Given the description of an element on the screen output the (x, y) to click on. 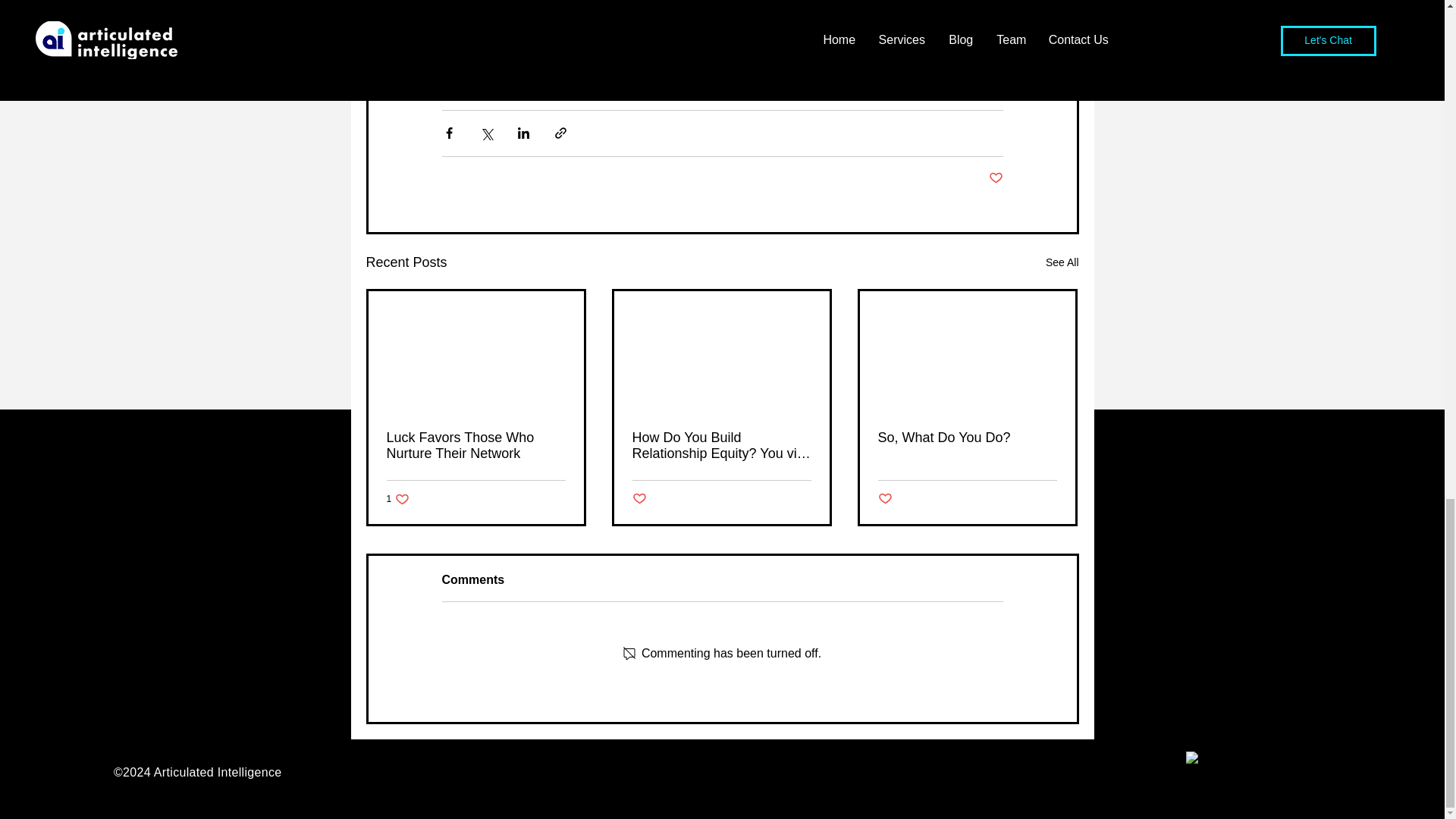
See All (1061, 262)
Luck Favors Those Who Nurture Their Network (476, 445)
Post not marked as liked (995, 178)
Post not marked as liked (398, 499)
So, What Do You Do? (638, 498)
Post not marked as liked (967, 437)
